Given the description of an element on the screen output the (x, y) to click on. 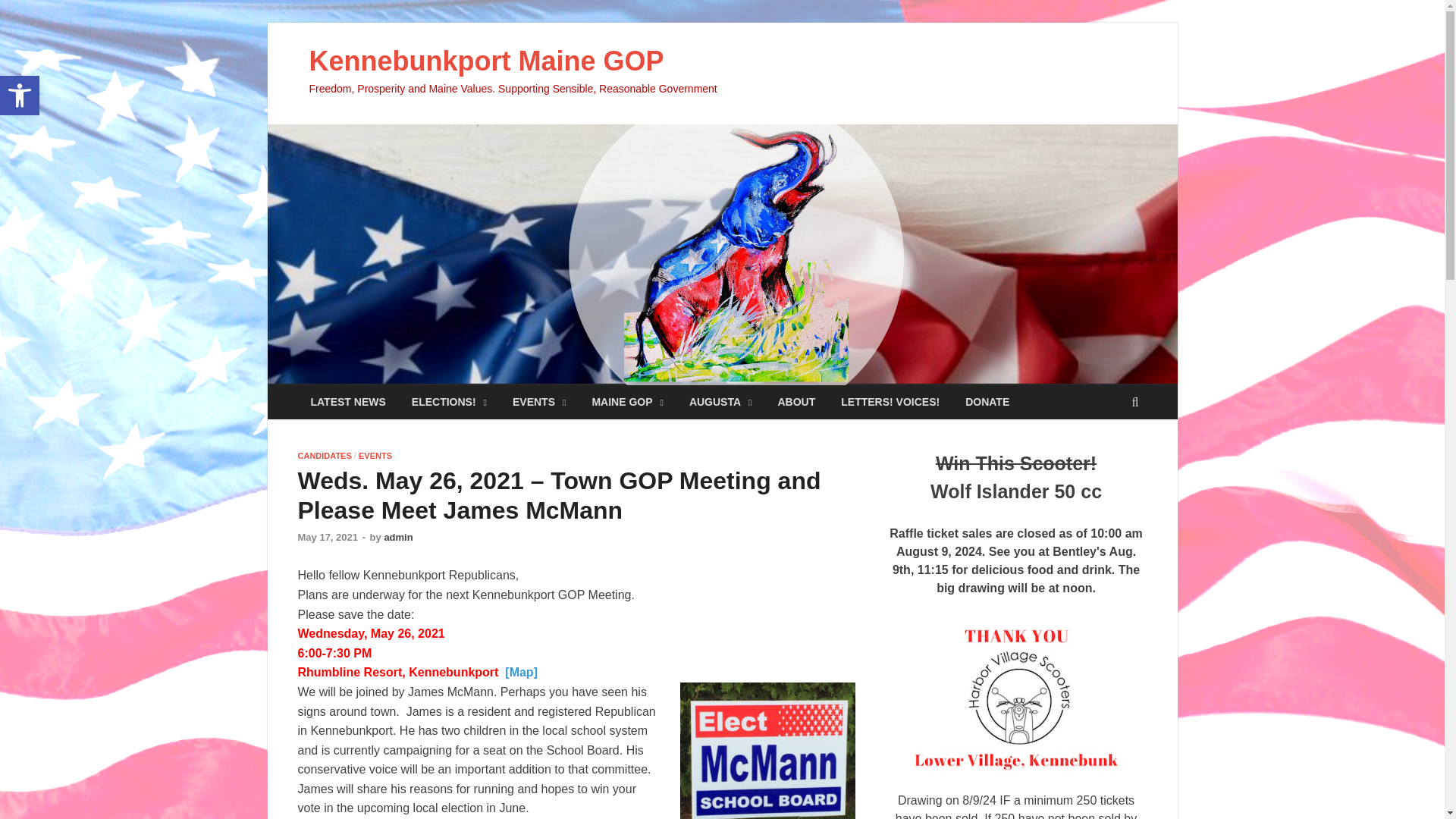
ABOUT (796, 401)
LETTERS! VOICES! (890, 401)
AUGUSTA (721, 401)
LATEST NEWS (347, 401)
MAINE GOP (627, 401)
Accessibility Tools (19, 95)
Accessibility Tools (19, 95)
DONATE (987, 401)
ELECTIONS! (448, 401)
Kennebunkport Maine GOP (485, 60)
